Given the description of an element on the screen output the (x, y) to click on. 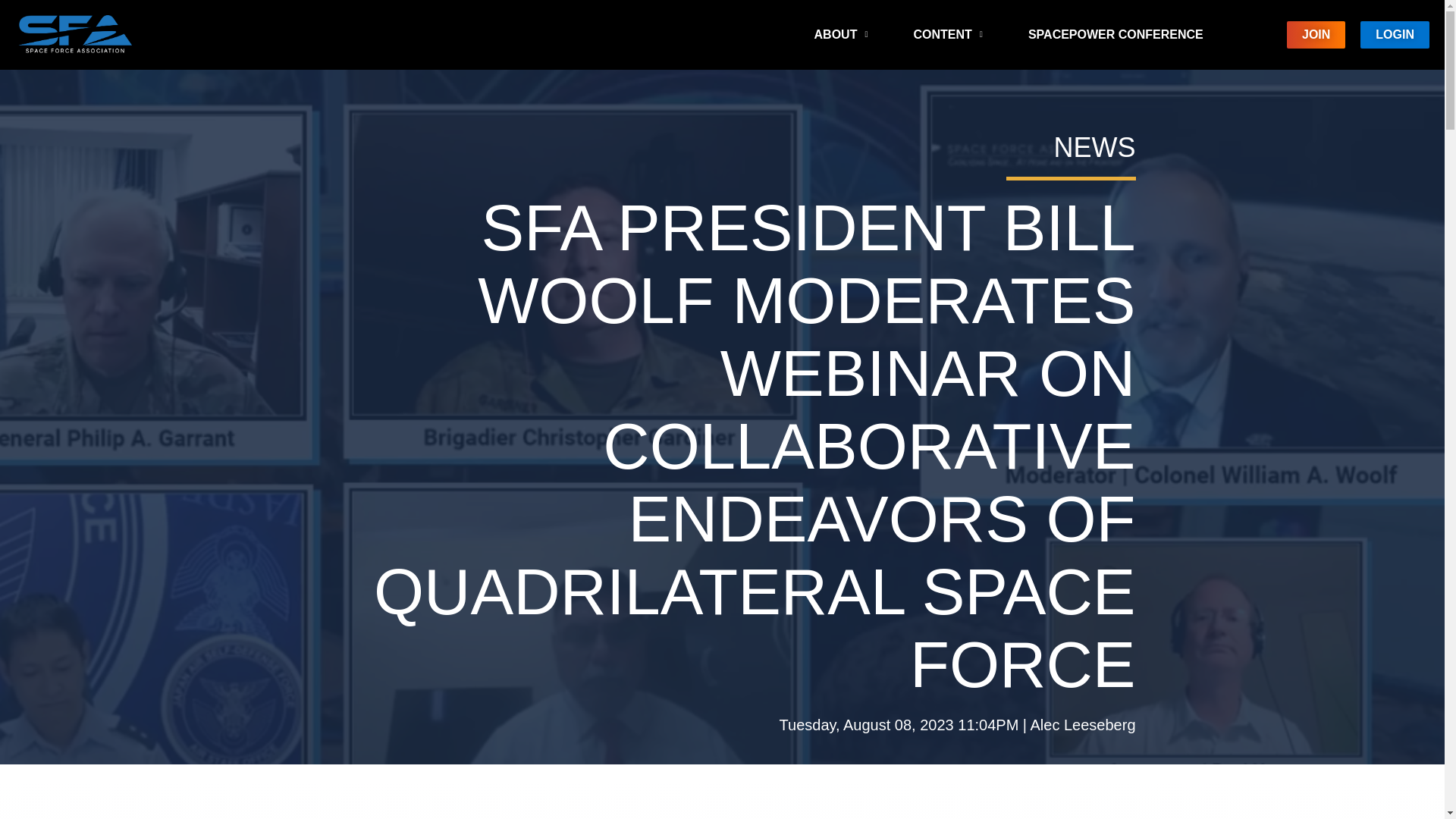
LOGIN (1394, 34)
JOIN (1316, 34)
CONTENT (947, 34)
ABOUT (841, 34)
SPACEPOWER CONFERENCE (1115, 34)
